Given the description of an element on the screen output the (x, y) to click on. 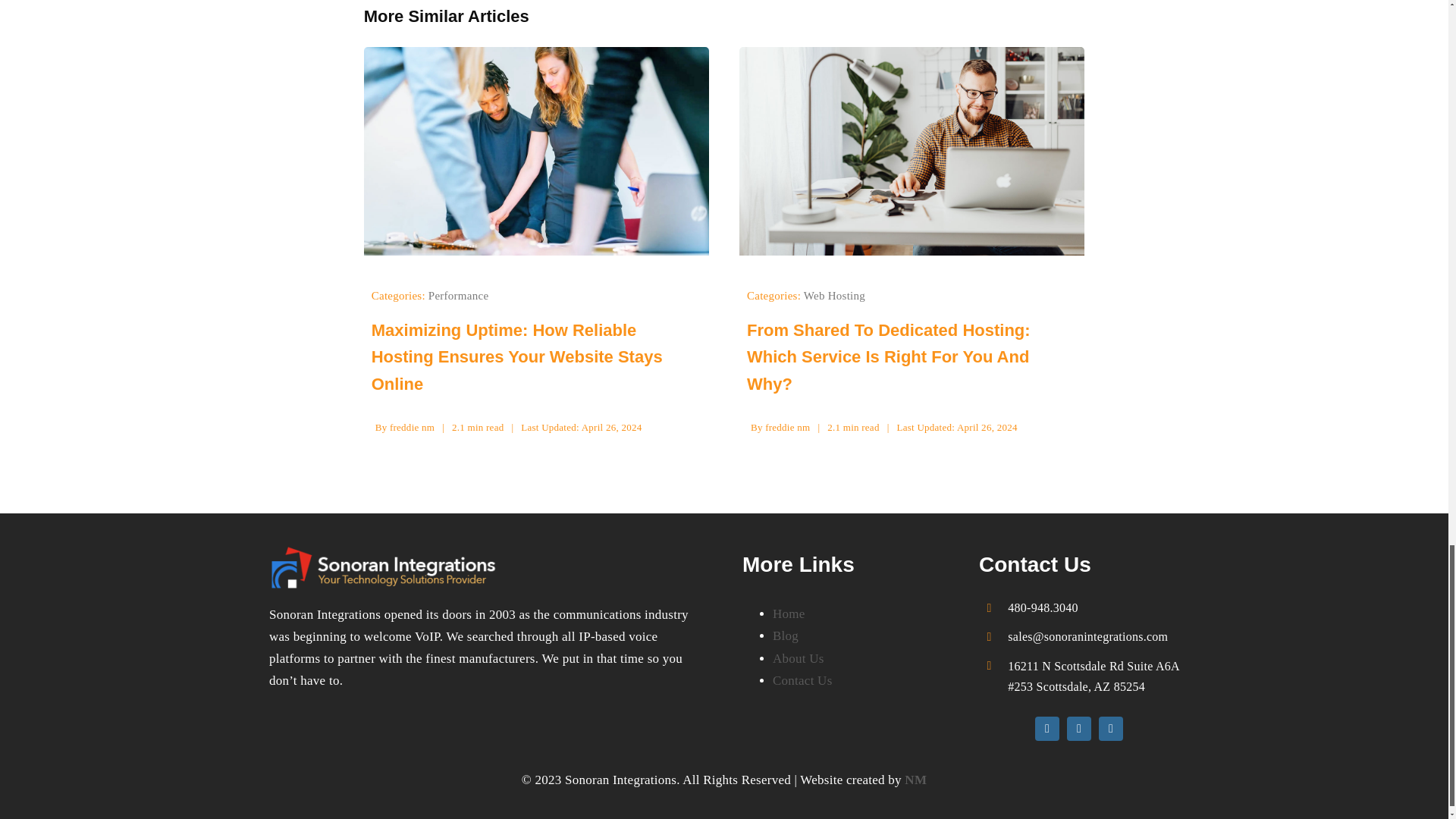
Twitter (1078, 728)
Posts by freddie nm (787, 427)
LinkedIn (1110, 728)
Facebook (1047, 728)
Posts by freddie nm (411, 427)
